Given the description of an element on the screen output the (x, y) to click on. 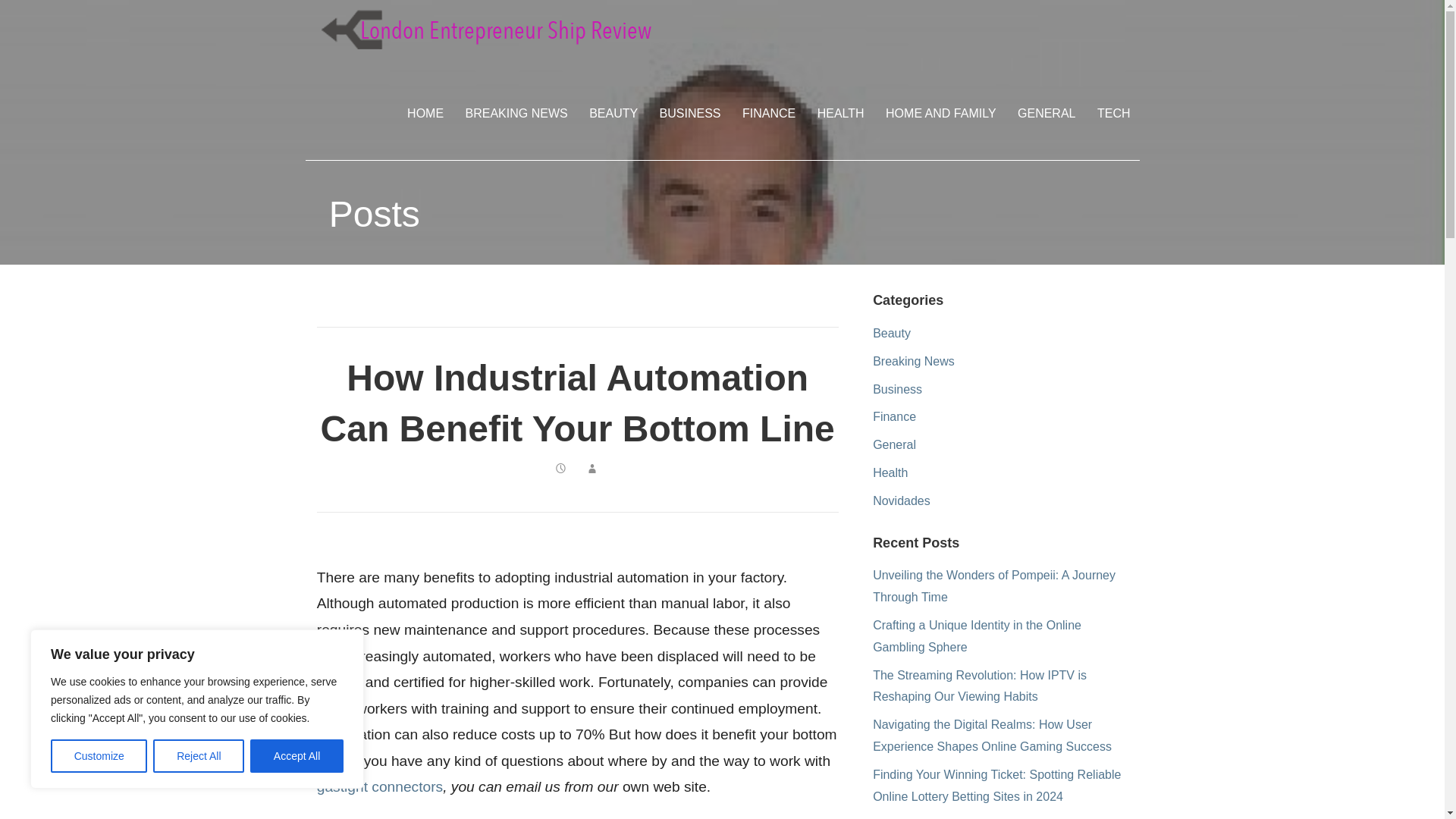
Accept All (296, 756)
HOME AND FAMILY (941, 113)
Novidades (901, 500)
Customize (98, 756)
Business (896, 389)
gastight connectors (379, 786)
Breaking News (913, 360)
Reject All (198, 756)
General (893, 444)
BREAKING NEWS (516, 113)
